Given the description of an element on the screen output the (x, y) to click on. 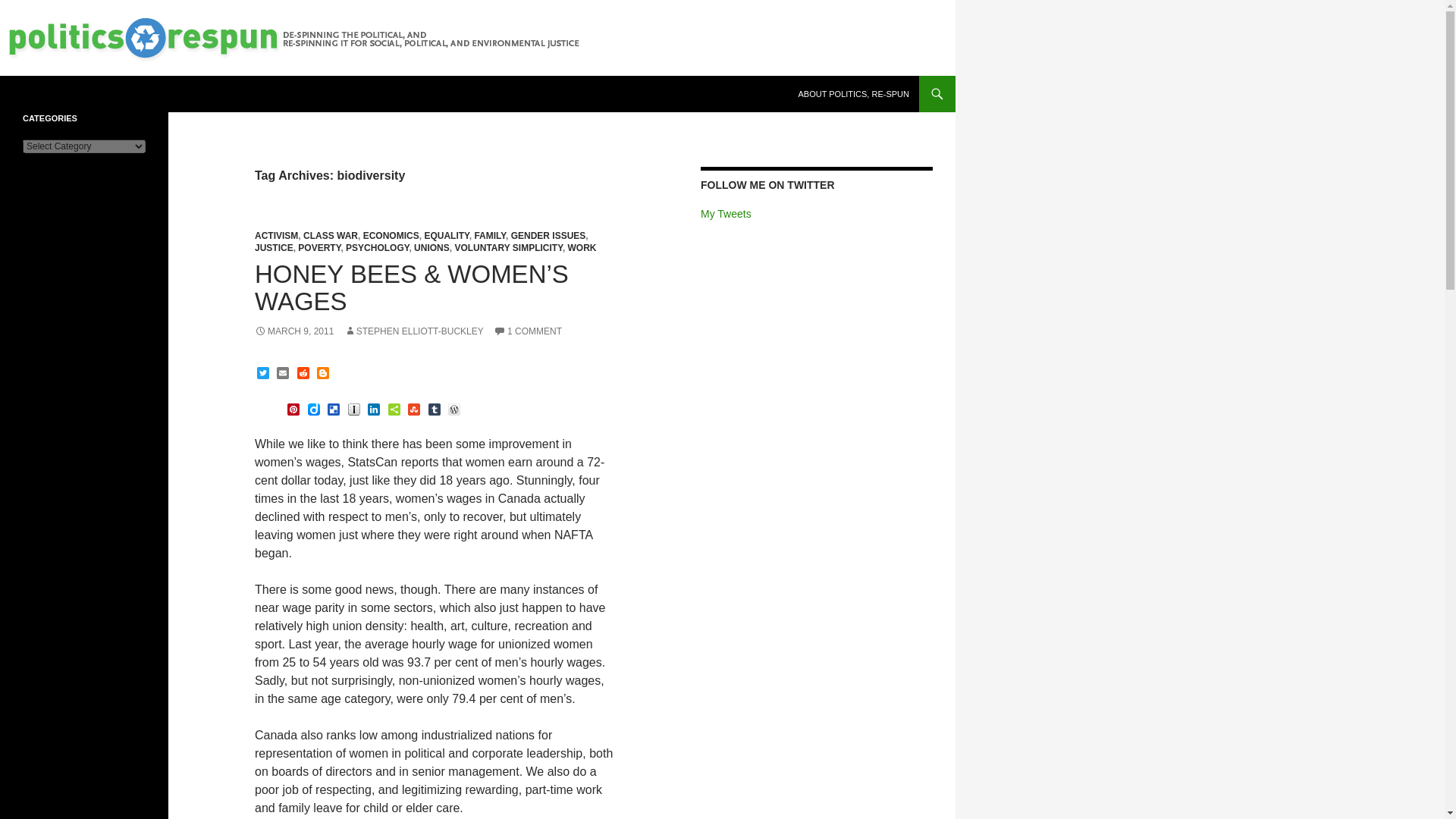
My Tweets (725, 214)
Politics, Re-Spun (79, 94)
ECONOMICS (390, 235)
MARCH 9, 2011 (293, 330)
1 COMMENT (527, 330)
POVERTY (319, 247)
VOLUNTARY SIMPLICITY (508, 247)
WORK (581, 247)
CLASS WAR (330, 235)
UNIONS (431, 247)
ABOUT POLITICS, RE-SPUN (853, 94)
EQUALITY (445, 235)
PSYCHOLOGY (377, 247)
FAMILY (489, 235)
